Given the description of an element on the screen output the (x, y) to click on. 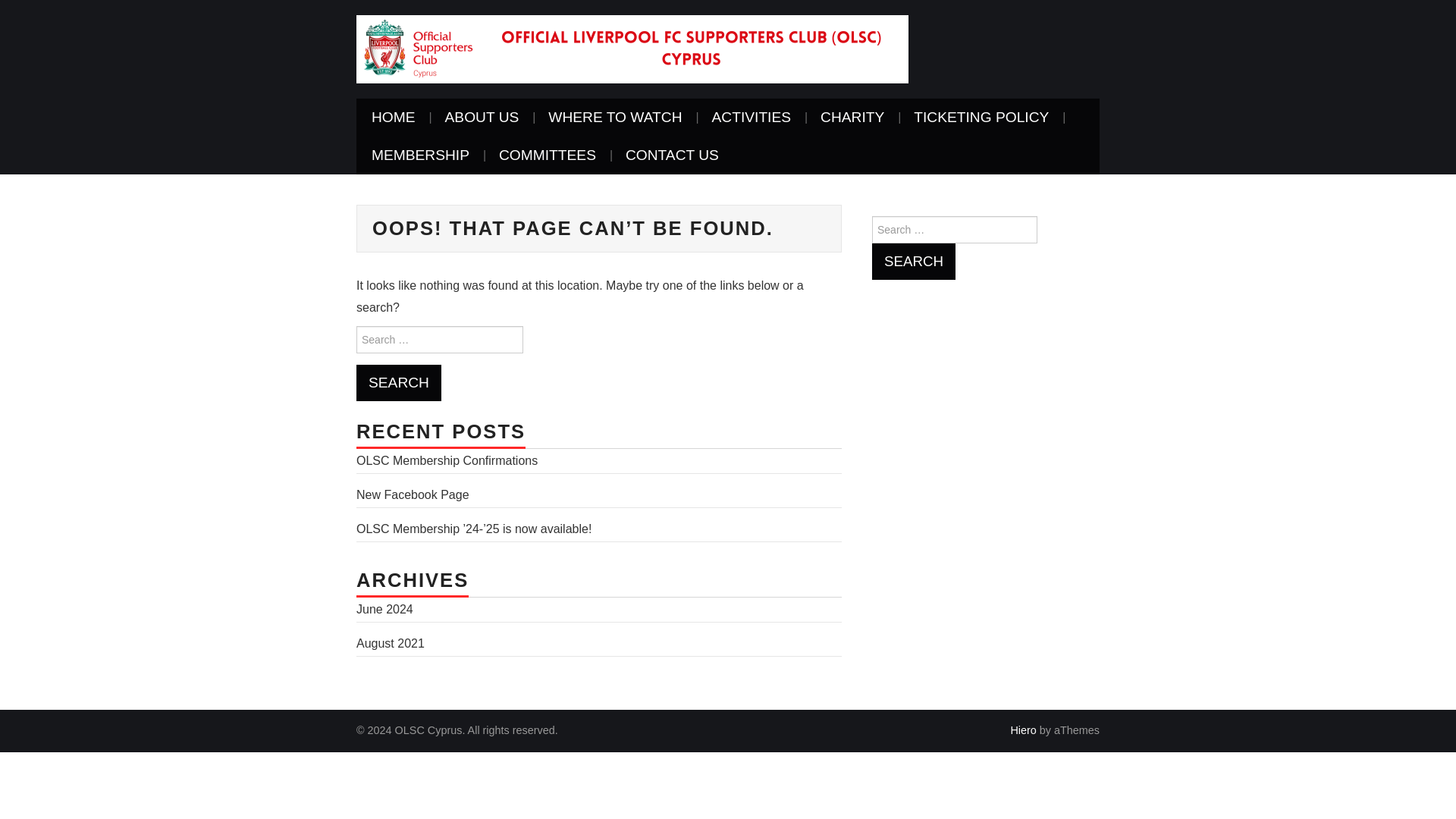
Search (913, 261)
COMMITTEES (547, 155)
Search (913, 261)
Search for: (954, 229)
Search (398, 382)
CONTACT US (671, 155)
CHARITY (852, 117)
August 2021 (390, 643)
Search (398, 382)
New Facebook Page (412, 494)
